Given the description of an element on the screen output the (x, y) to click on. 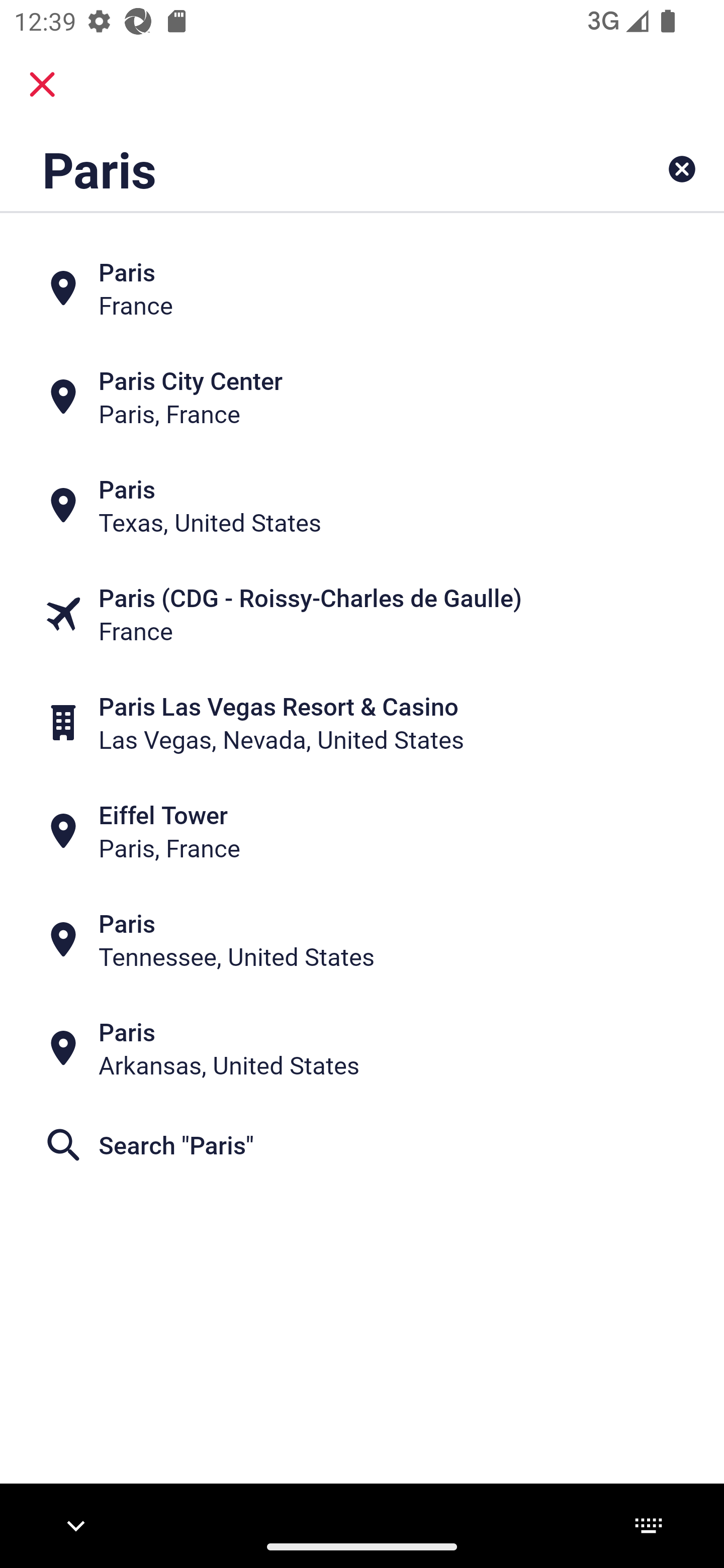
close. (42, 84)
Clear (681, 169)
Paris (298, 169)
Paris France (362, 288)
Paris City Center Paris, France (362, 397)
Paris Texas, United States (362, 505)
Paris (CDG - Roissy-Charles de Gaulle) France (362, 613)
Eiffel Tower Paris, France (362, 831)
Paris Tennessee, United States (362, 939)
Paris Arkansas, United States (362, 1048)
Search "Paris" (362, 1144)
